Given the description of an element on the screen output the (x, y) to click on. 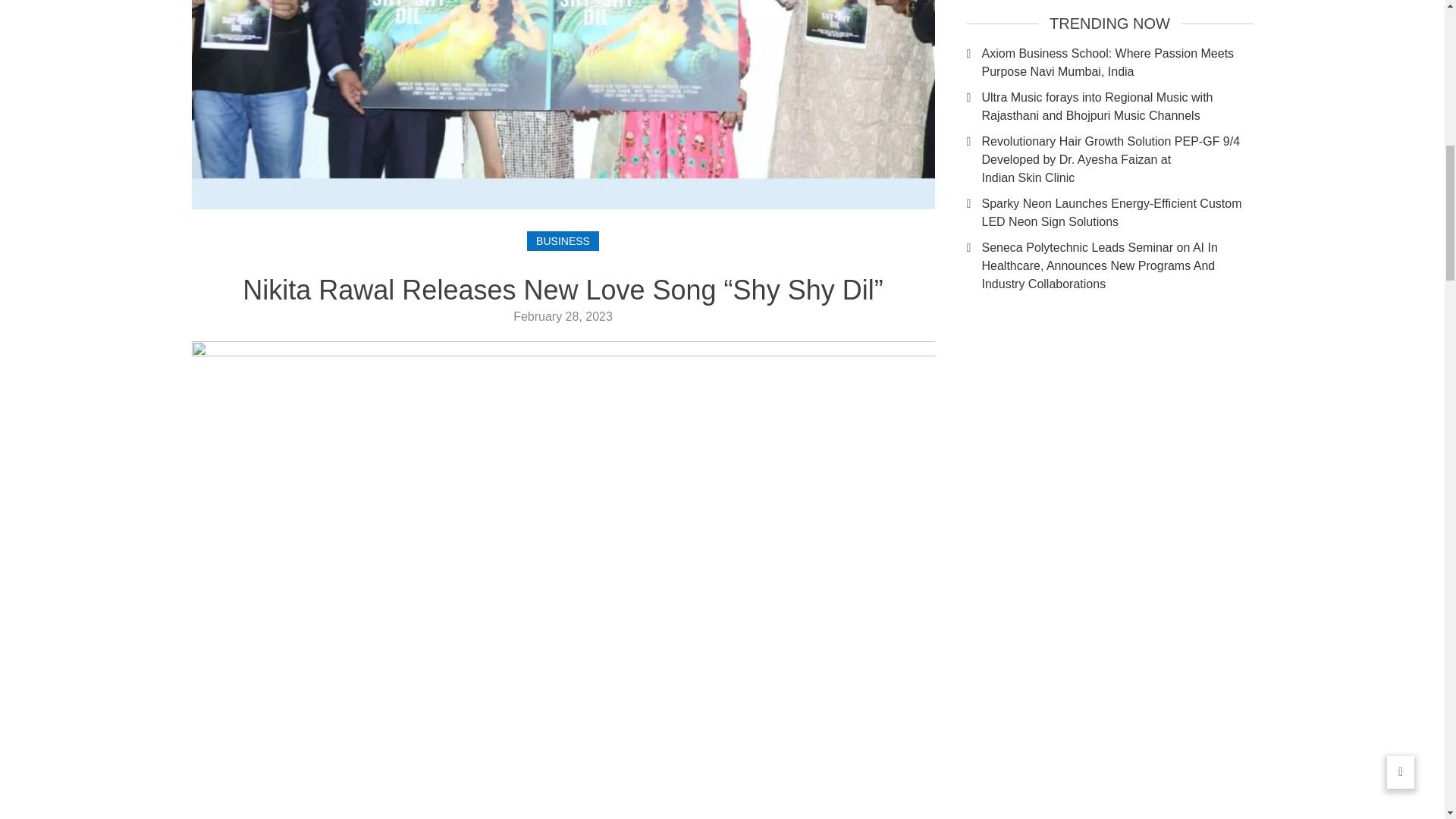
BUSINESS (562, 240)
February 28, 2023 (562, 316)
